Given the description of an element on the screen output the (x, y) to click on. 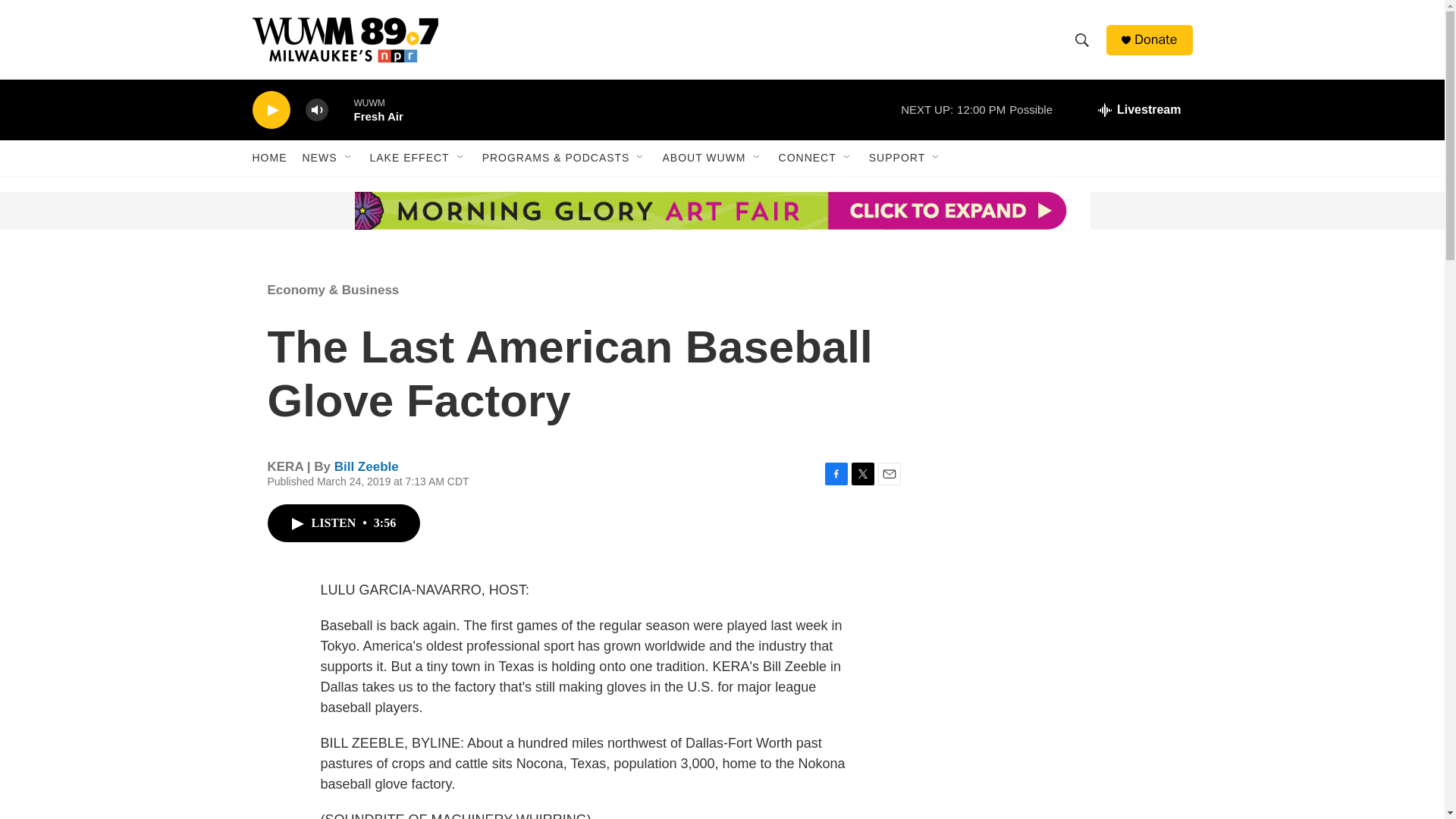
3rd party ad content (1062, 370)
3rd party ad content (367, 210)
